Given the description of an element on the screen output the (x, y) to click on. 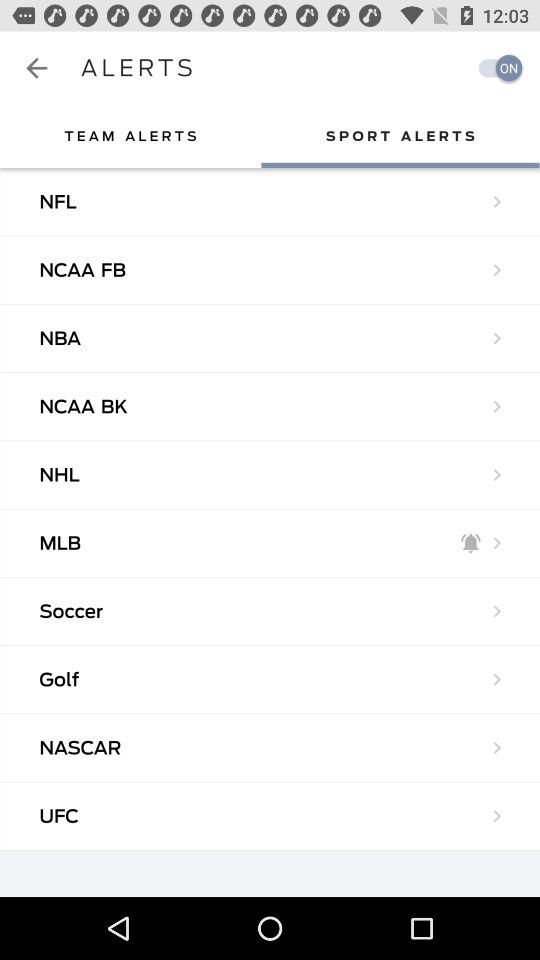
turn on-off button (495, 67)
